Given the description of an element on the screen output the (x, y) to click on. 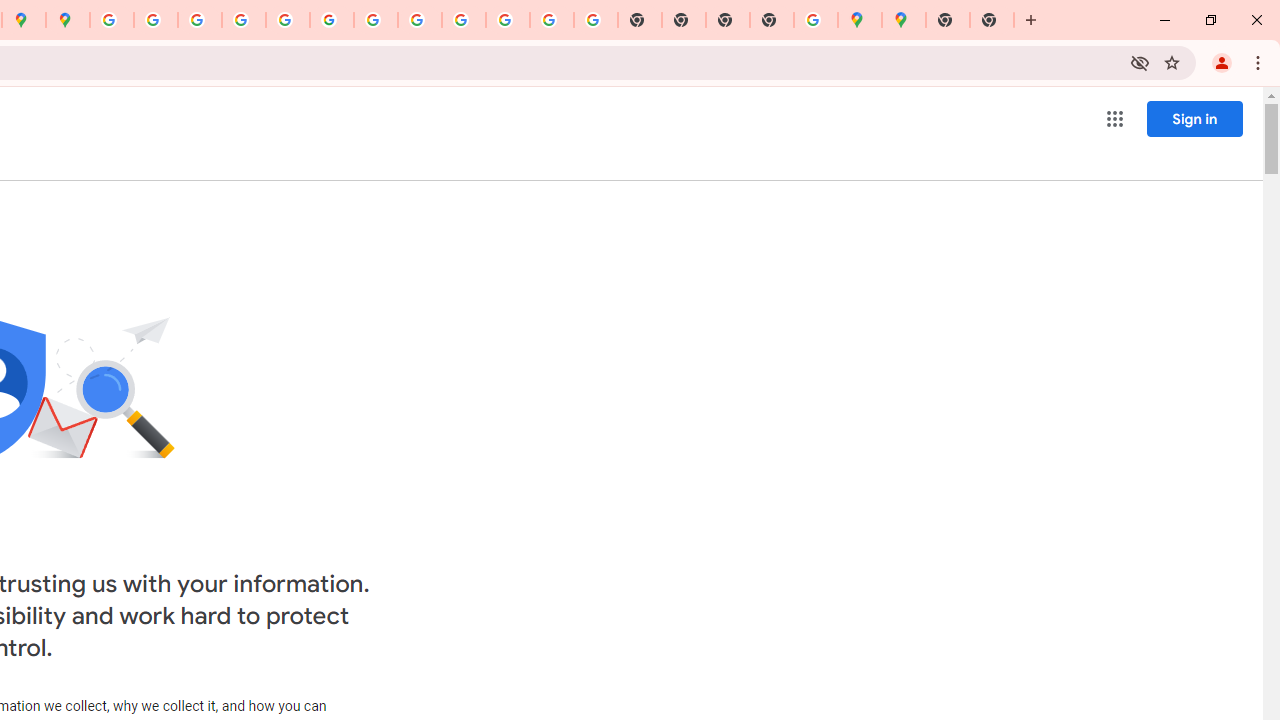
Sign in - Google Accounts (111, 20)
New Tab (947, 20)
Use Google Maps in Space - Google Maps Help (815, 20)
Browse Chrome as a guest - Computer - Google Chrome Help (419, 20)
New Tab (771, 20)
